Given the description of an element on the screen output the (x, y) to click on. 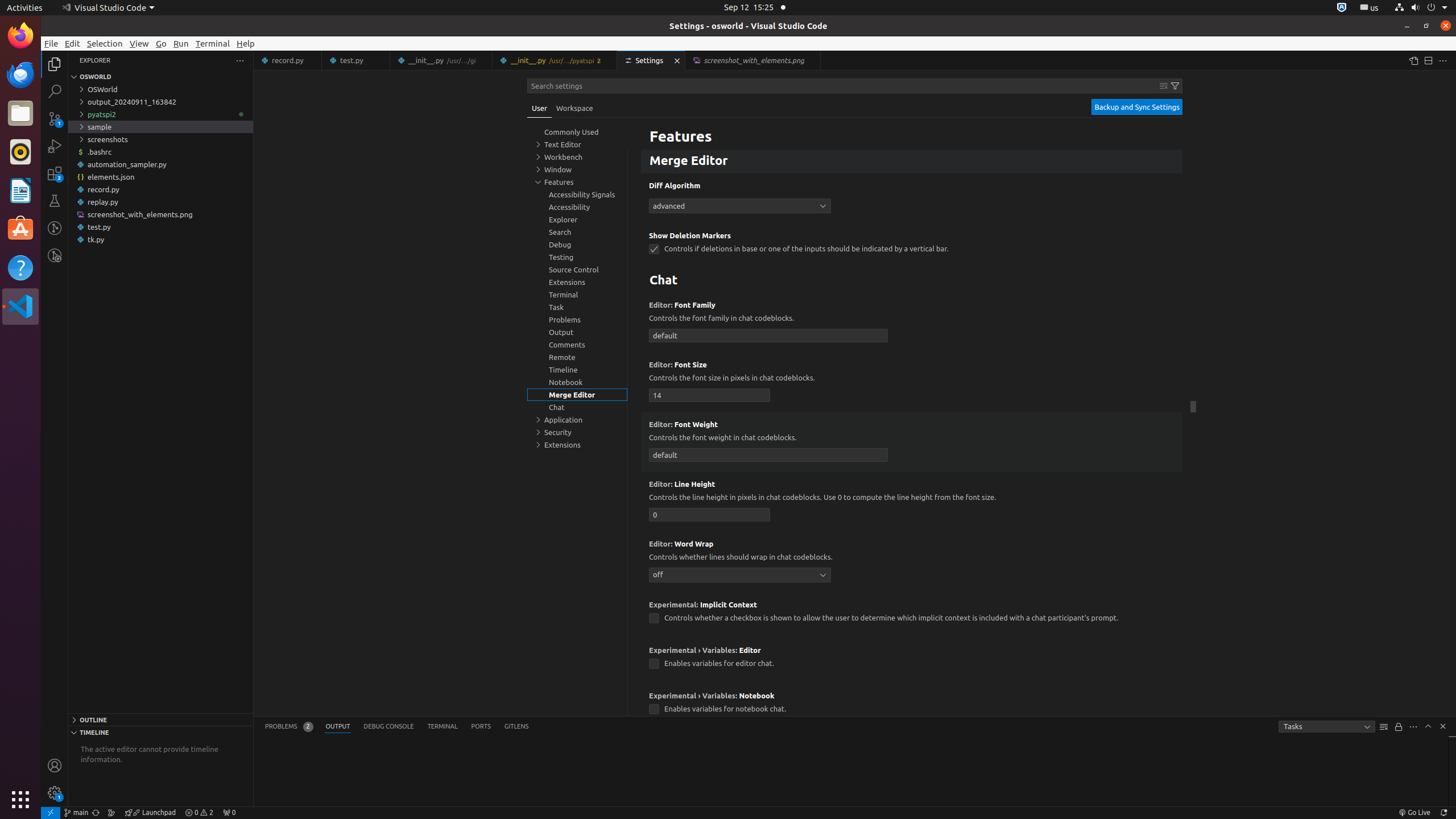
record.py Element type: tree-item (160, 189)
Workspace Element type: check-box (574, 107)
GitLens Element type: page-tab (516, 726)
Clear Settings Search Input Element type: push-button (1163, 85)
Window, group Element type: tree-item (577, 169)
